Given the description of an element on the screen output the (x, y) to click on. 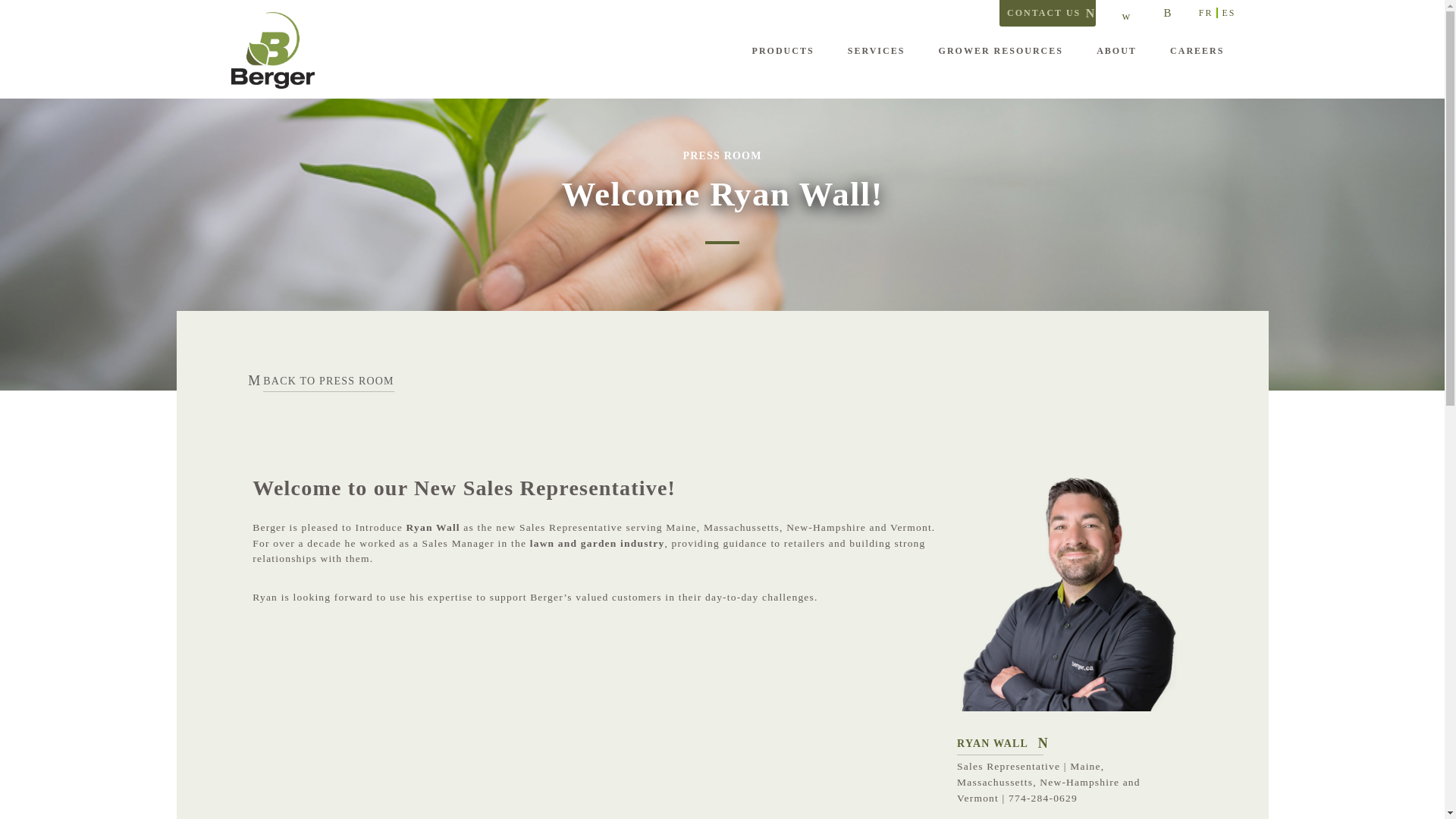
CONTACT US (1047, 13)
ABOUT (1116, 52)
GROWER RESOURCES (1000, 52)
ES (1228, 12)
CAREERS (1197, 52)
PRODUCTS (782, 52)
SERVICES (876, 52)
FR (1208, 12)
ES (1228, 12)
FR (1208, 12)
